Given the description of an element on the screen output the (x, y) to click on. 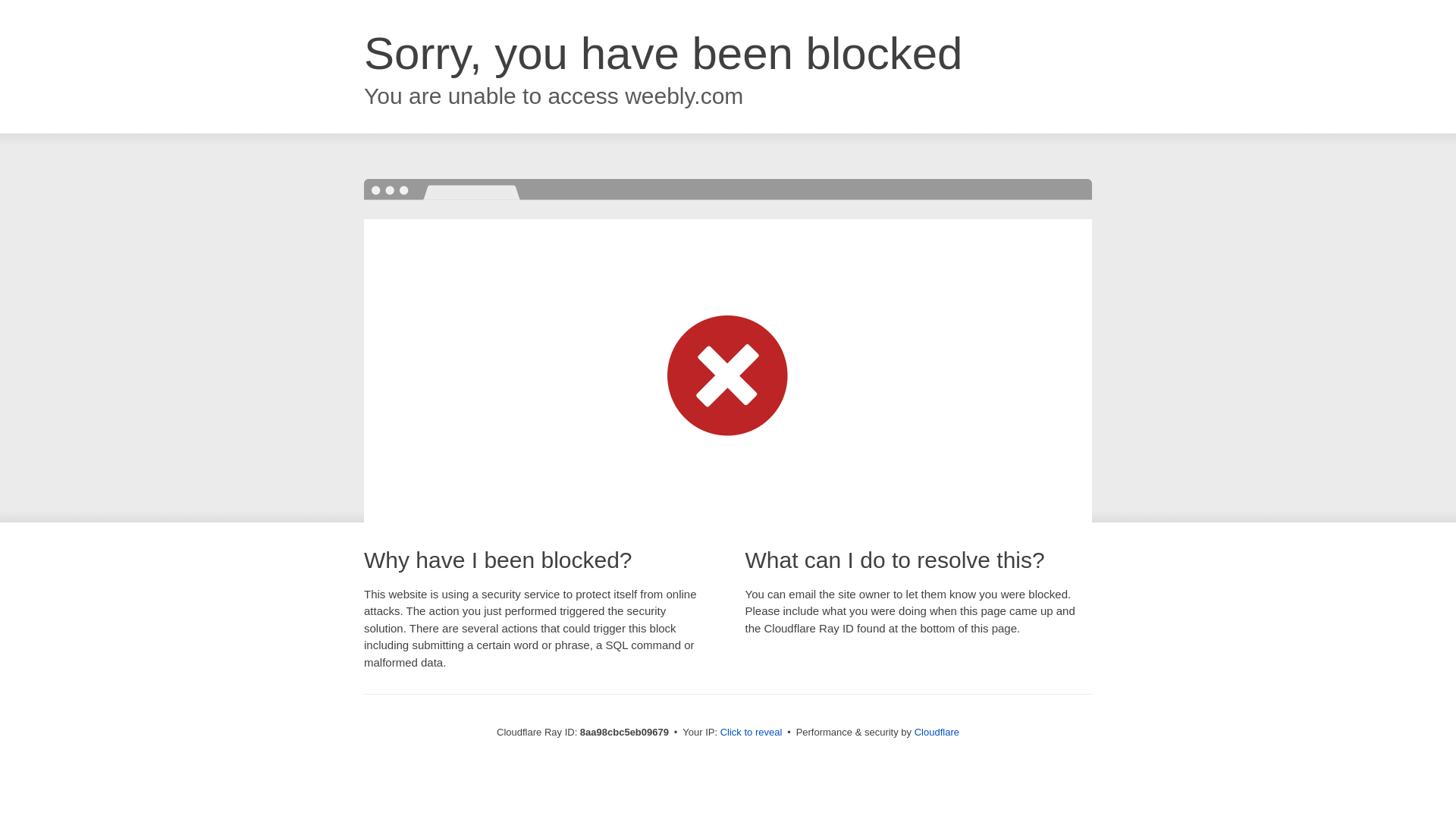
Click to reveal (751, 732)
Cloudflare (936, 731)
